Given the description of an element on the screen output the (x, y) to click on. 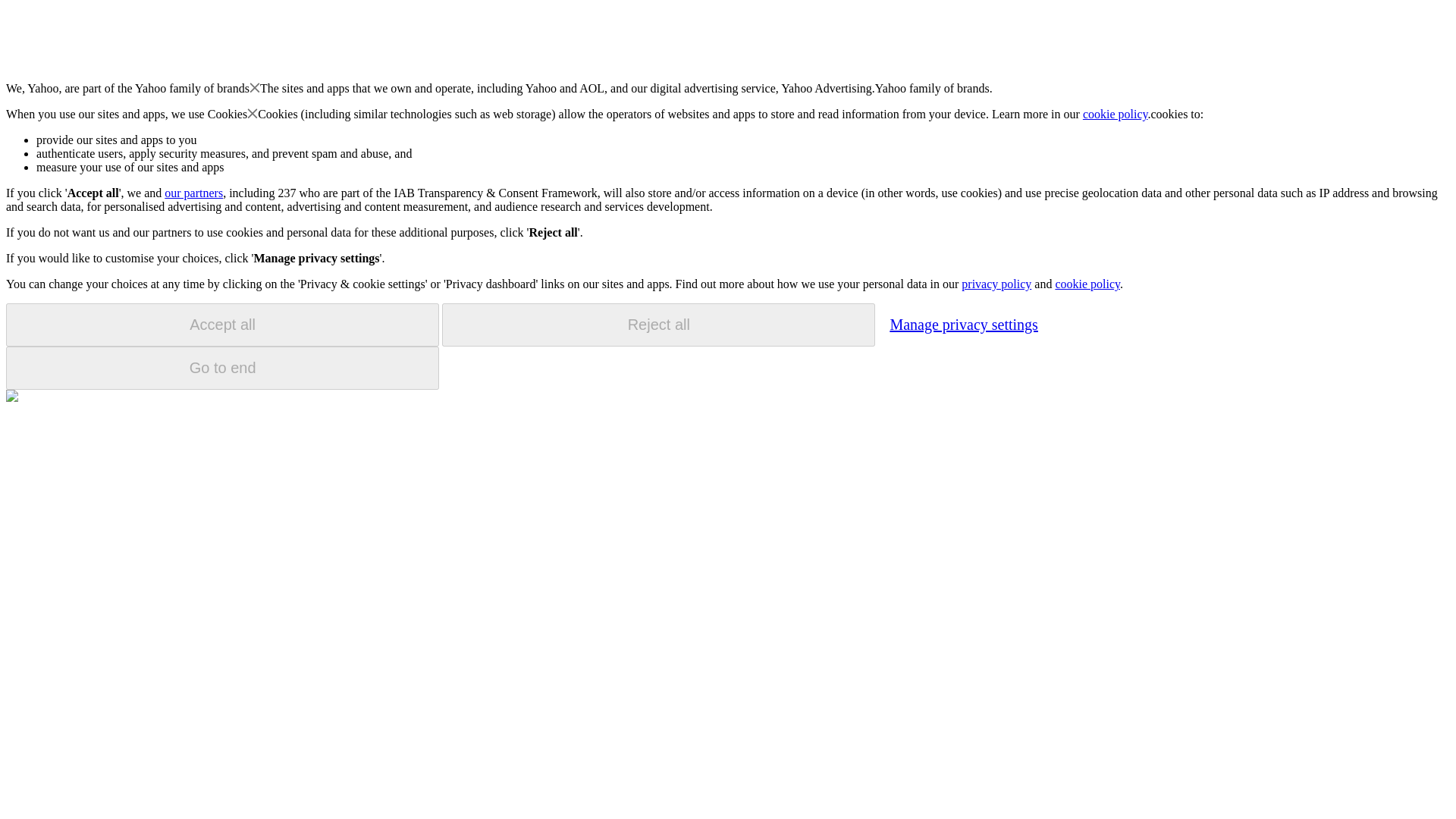
Accept all (222, 324)
Go to end (222, 367)
cookie policy (1115, 113)
cookie policy (1086, 283)
Reject all (658, 324)
Manage privacy settings (963, 323)
privacy policy (995, 283)
our partners (193, 192)
